Given the description of an element on the screen output the (x, y) to click on. 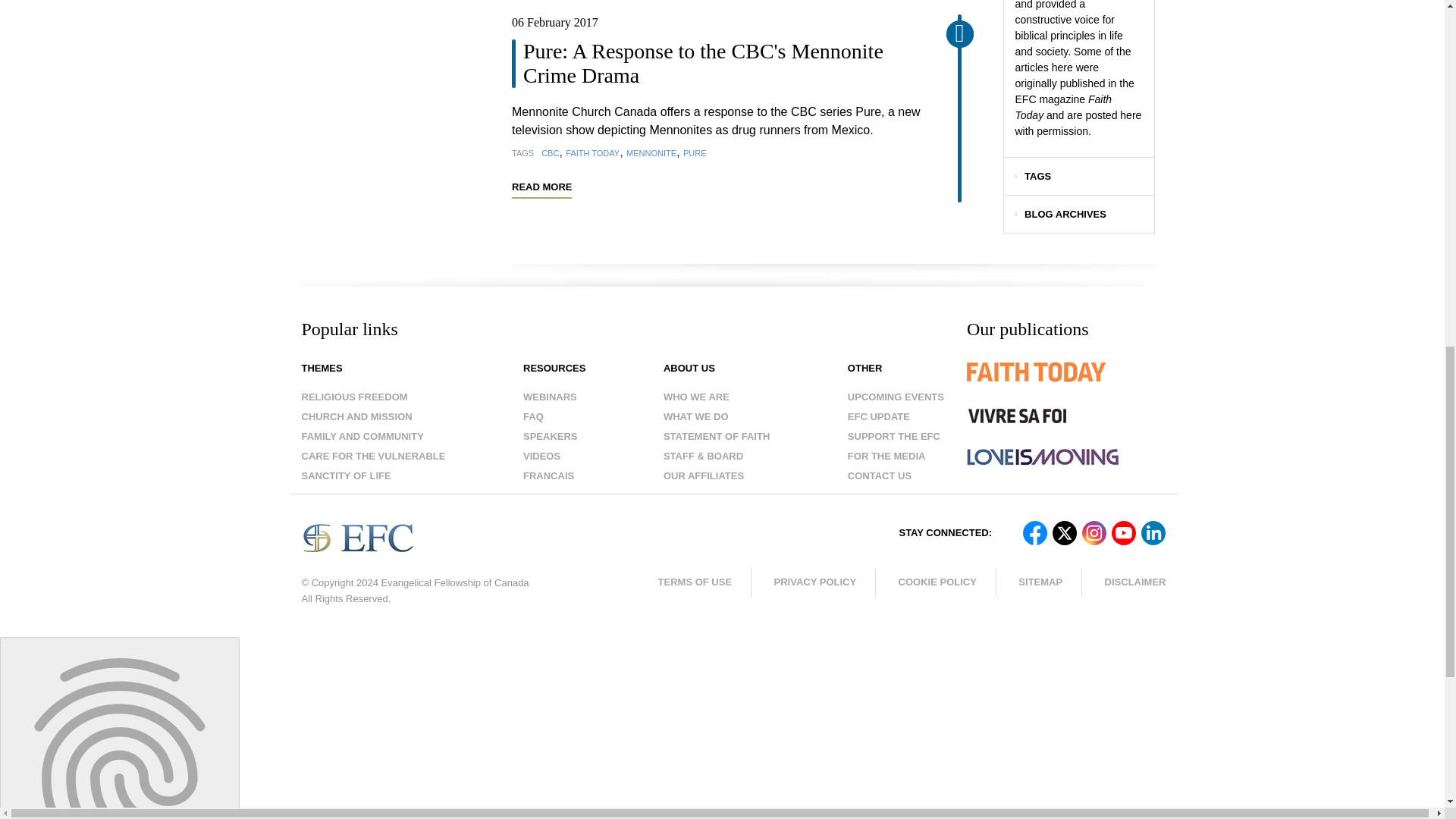
Love Is Moving (1042, 457)
Faith Today Magazine (1066, 382)
